Given the description of an element on the screen output the (x, y) to click on. 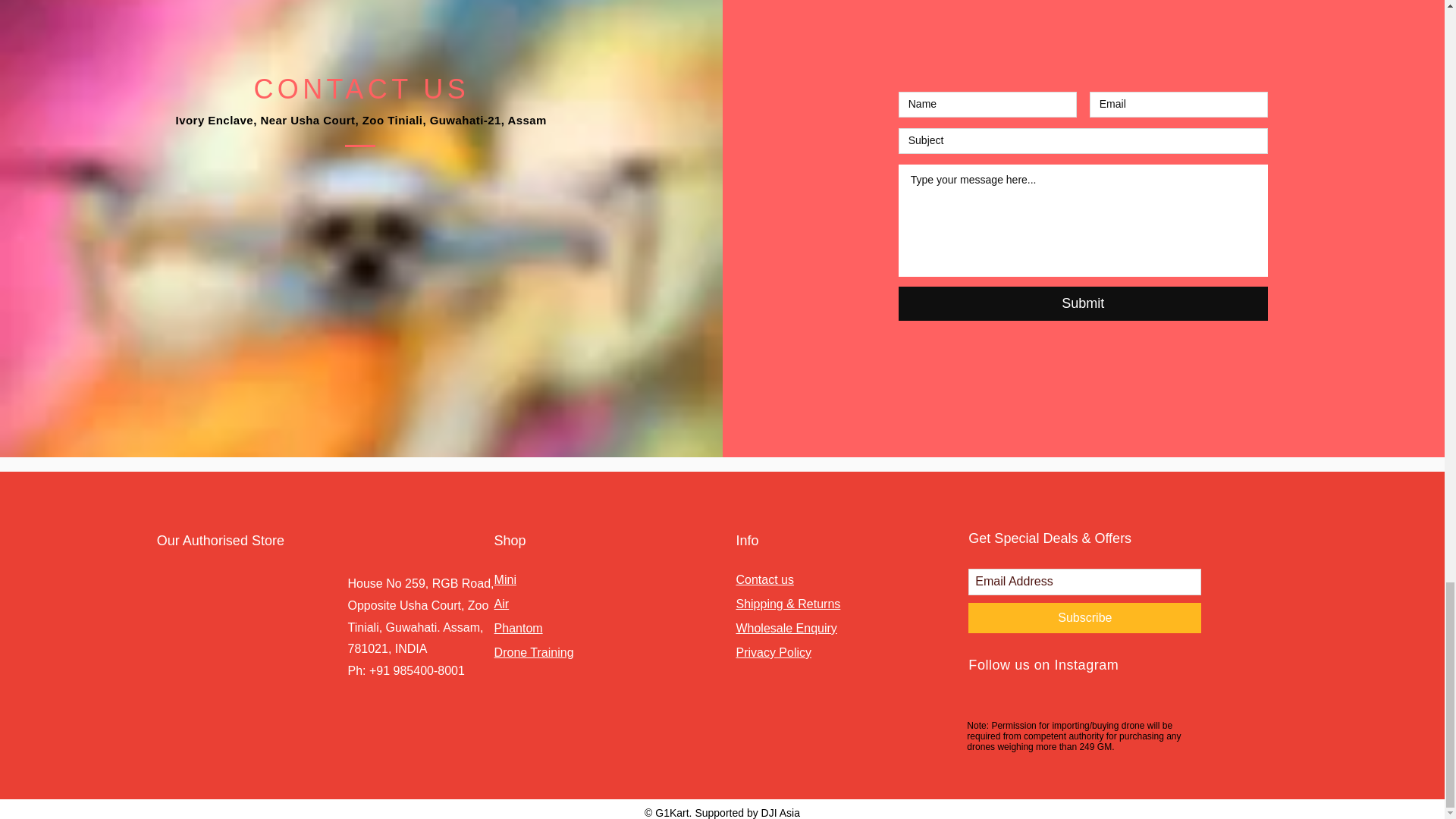
Phantom (519, 627)
Submit (1083, 303)
Privacy Policy (772, 652)
Wholesale Enquiry (785, 627)
Mini (505, 579)
Contact us (764, 579)
Air (502, 603)
Subscribe (1084, 617)
Drone Training (534, 652)
